Given the description of an element on the screen output the (x, y) to click on. 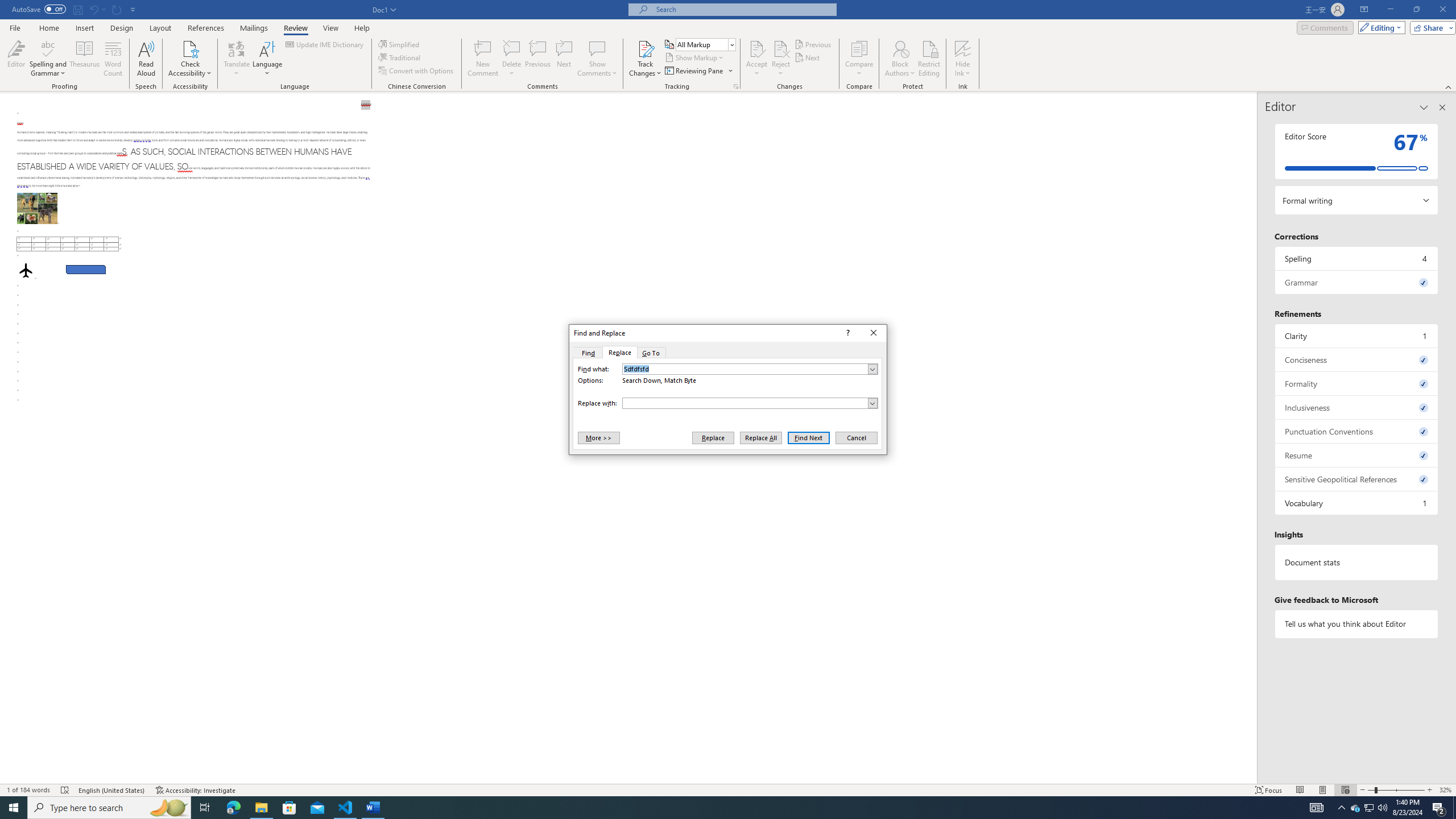
Compare (859, 58)
Zoom 32% (1445, 790)
Block Authors (900, 48)
Traditional (400, 56)
Rectangle: Diagonal Corners Snipped 2 (1355, 807)
Tell us what you think about Editor (85, 269)
File Explorer - 1 running window (1356, 624)
